Given the description of an element on the screen output the (x, y) to click on. 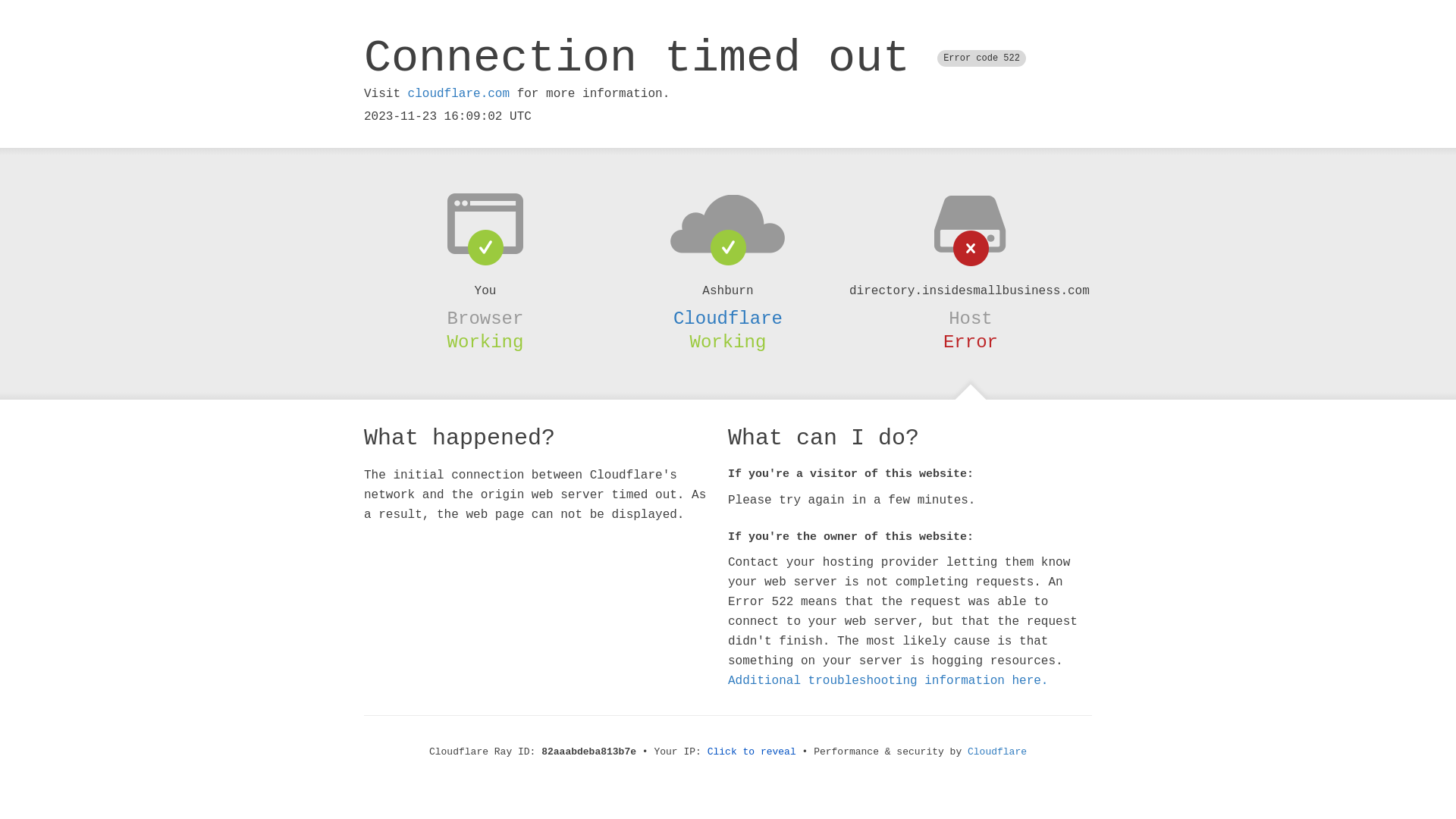
Additional troubleshooting information here. Element type: text (888, 680)
Cloudflare Element type: text (996, 751)
cloudflare.com Element type: text (458, 93)
Cloudflare Element type: text (727, 318)
Click to reveal Element type: text (751, 751)
